Given the description of an element on the screen output the (x, y) to click on. 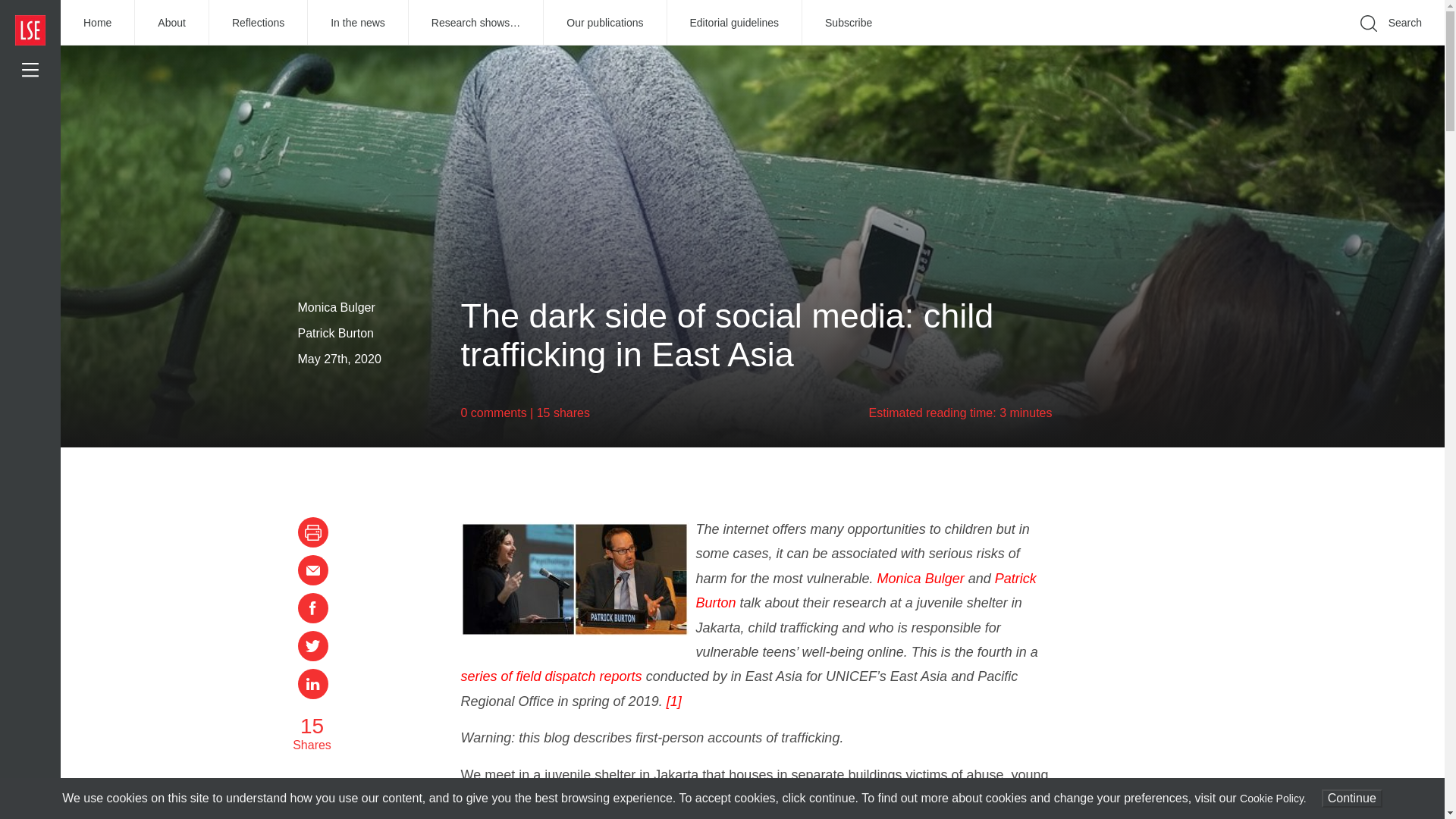
Home (98, 22)
About (172, 22)
Editorial guidelines (734, 22)
Go (1190, 44)
Our publications (604, 22)
Monica Bulger (920, 578)
0 comments (494, 412)
Patrick Burton (865, 590)
series of field dispatch reports (551, 676)
Subscribe (848, 22)
Reflections (258, 22)
In the news (358, 22)
